Given the description of an element on the screen output the (x, y) to click on. 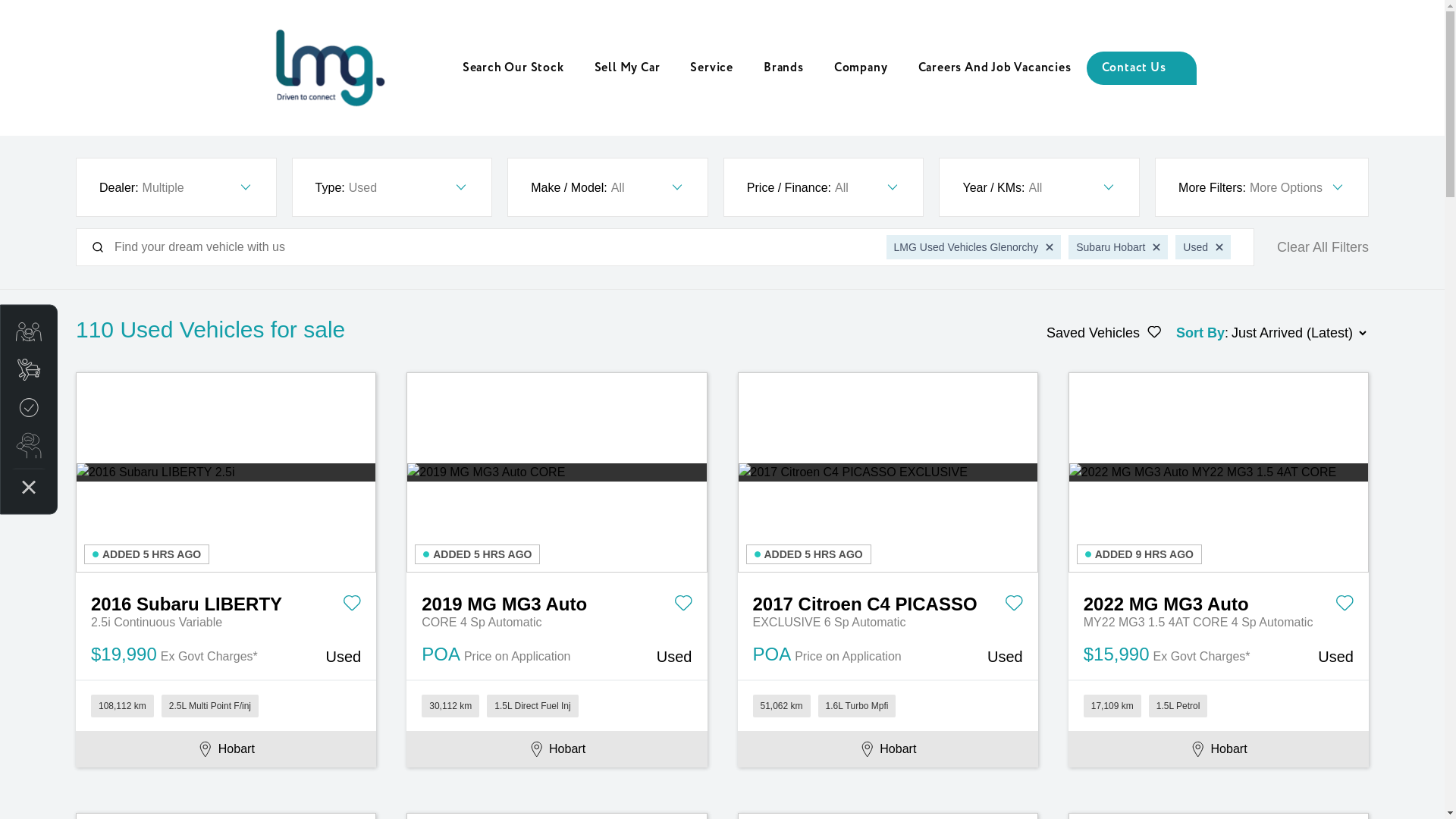
Brands Element type: text (783, 67)
51,062 km
1.6L Turbo Mpfi Element type: text (887, 705)
Save Vehicle Element type: hover (1013, 605)
30,112 km
1.5L Direct Fuel Inj Element type: text (556, 705)
Hobart Element type: text (887, 749)
Hobart Element type: text (556, 749)
Careers And Job Vacancies Element type: text (993, 67)
2019 MG MG3 Auto
CORE 4 Sp Automatic Element type: text (556, 601)
Saved Vehicles Element type: text (1103, 332)
Service Element type: text (711, 67)
2017 Citroen C4 PICASSO EXCLUSIVE Element type: hover (887, 472)
Clear All Filters Element type: text (1322, 247)
108,112 km
2.5L Multi Point F/inj Element type: text (225, 705)
$15,990
Ex Govt Charges*
Used Element type: text (1218, 655)
2022 MG MG3 Auto
MY22 MG3 1.5 4AT CORE 4 Sp Automatic Element type: text (1218, 601)
Sell My Car Element type: text (627, 67)
Contact Us Element type: text (1140, 67)
17,109 km
1.5L Petrol Element type: text (1218, 705)
Hobart Element type: text (225, 749)
2022 MG MG3 Auto MY22 MG3 1.5 4AT CORE Element type: hover (1218, 472)
2017 Citroen C4 PICASSO
EXCLUSIVE 6 Sp Automatic Element type: text (887, 601)
Hobart Element type: text (1218, 749)
2016 Subaru LIBERTY
2.5i Continuous Variable Element type: text (225, 601)
Search Our Stock Element type: text (513, 67)
POA
Price on Application
Used Element type: text (556, 655)
$19,990
Ex Govt Charges*
Used Element type: text (225, 655)
POA
Price on Application
Used Element type: text (887, 655)
Company Element type: text (861, 67)
2016 Subaru LIBERTY 2.5i Element type: hover (225, 472)
2019 MG MG3 Auto CORE Element type: hover (556, 472)
Save Vehicle Element type: hover (1344, 605)
Save Vehicle Element type: hover (682, 605)
Save Vehicle Element type: hover (351, 605)
